Given the description of an element on the screen output the (x, y) to click on. 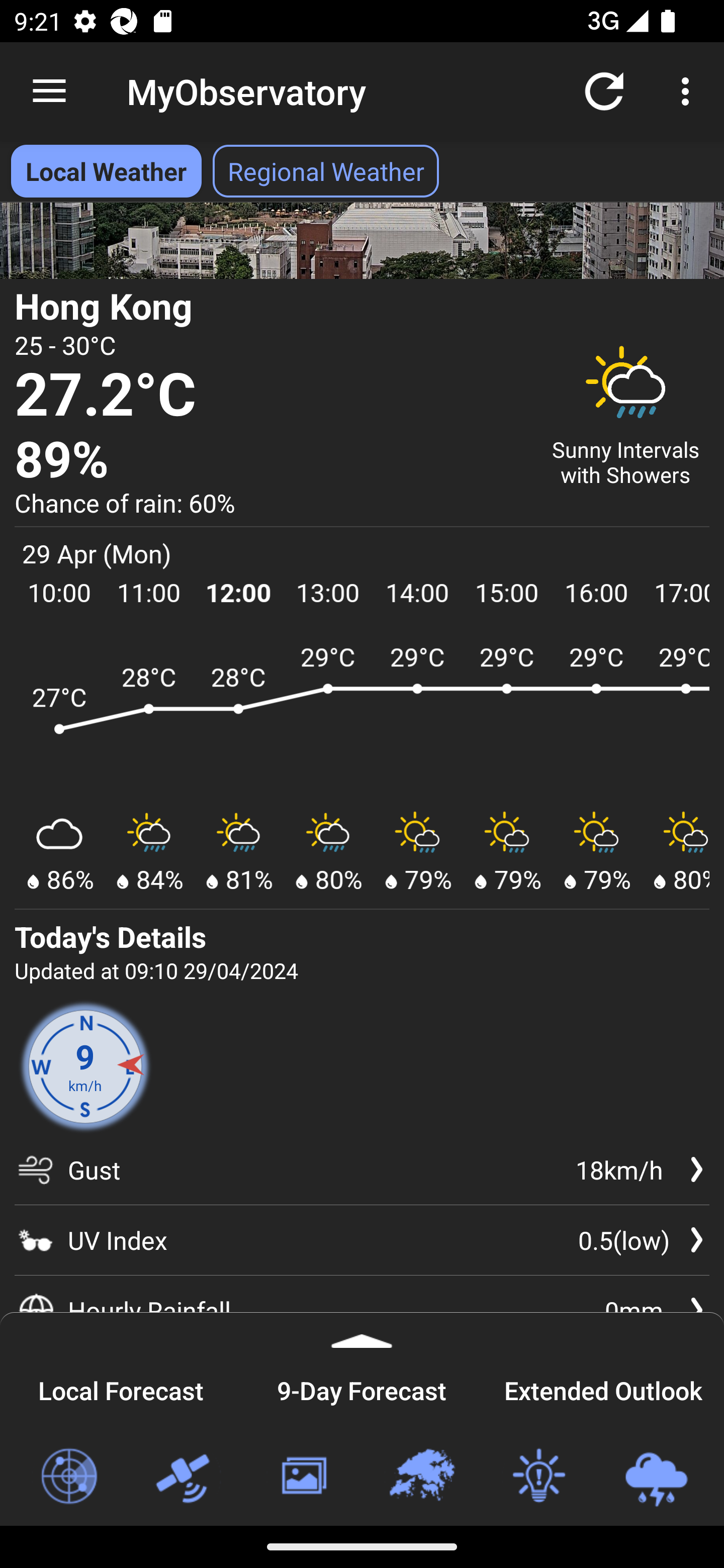
Navigate up (49, 91)
Refresh (604, 90)
More options (688, 90)
Local Weather Local Weather selected (105, 170)
Regional Weather Select Regional Weather (325, 170)
27.2°C Temperature
27.2 degree Celsius (270, 395)
89% Relative Humidity
89 percent (270, 460)
ARWF (361, 717)
Gust 18km/h Gust 18km/h (361, 1176)
UV Index 0.5(low) UV Index 0.5(low) (361, 1239)
Expand (362, 1330)
Local Forecast (120, 1387)
Extended Outlook (603, 1387)
Radar Images (68, 1476)
Satellite Images (185, 1476)
Weather Photos (302, 1476)
Regional Weather (420, 1476)
Weather Tips (537, 1476)
Loc-based Rain & Lightning Forecast (655, 1476)
